Given the description of an element on the screen output the (x, y) to click on. 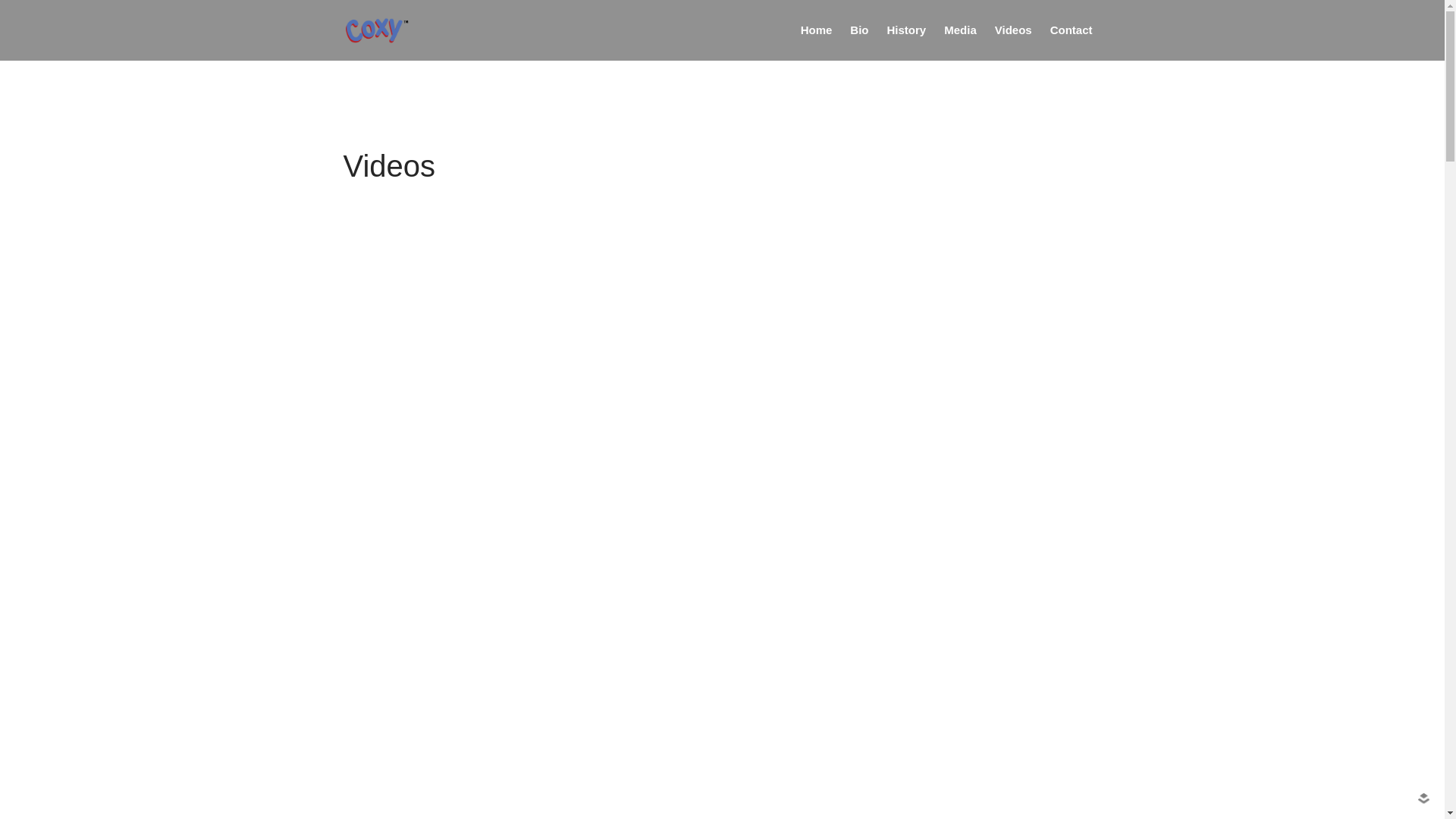
Videos Element type: text (1013, 29)
Contact Element type: text (1071, 29)
Search Element type: text (1357, 244)
Coxy Element type: text (434, 39)
Bio Element type: text (858, 29)
History Element type: text (906, 29)
Media Element type: text (960, 29)
Home Element type: text (816, 29)
